Given the description of an element on the screen output the (x, y) to click on. 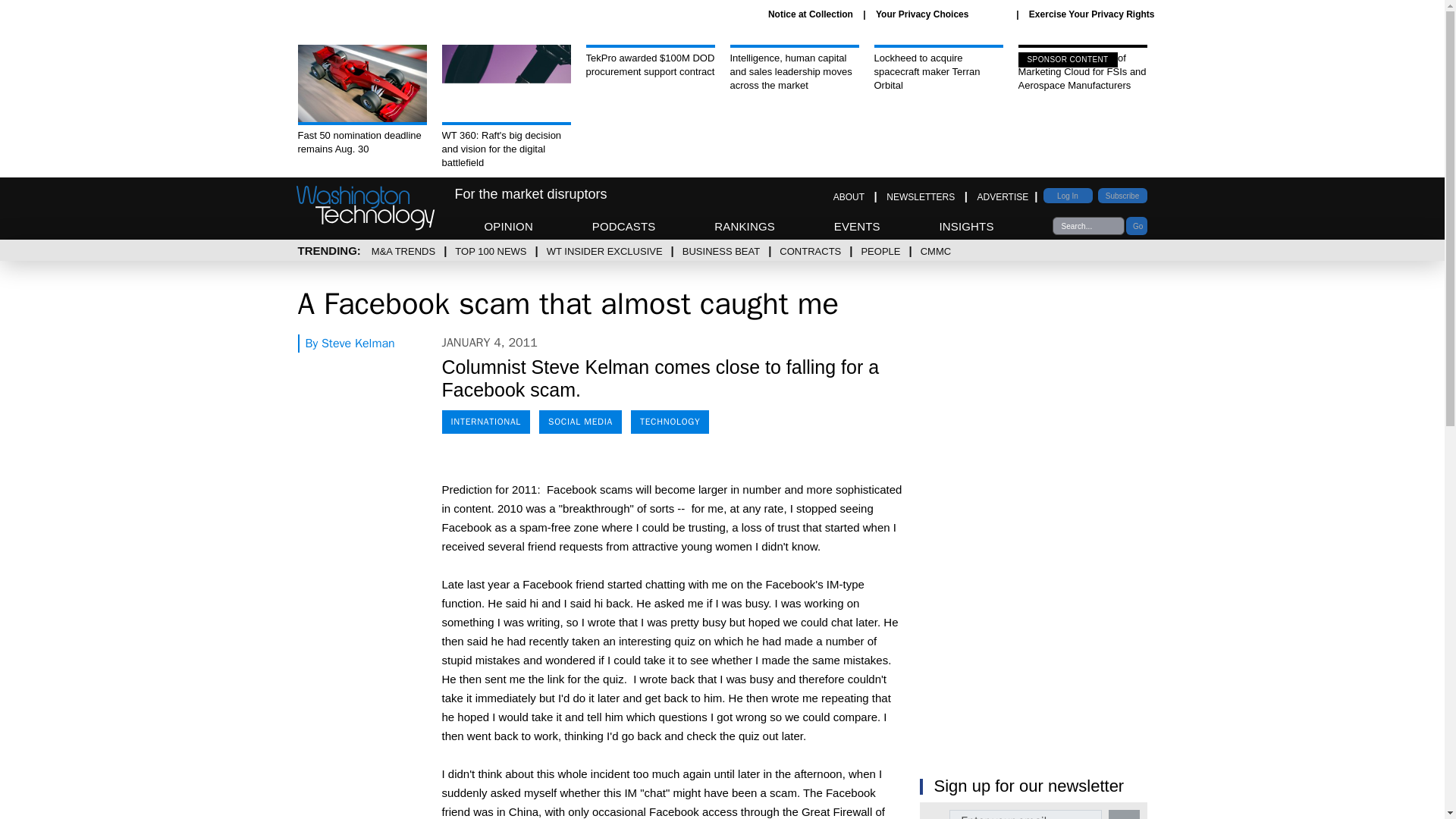
ABOUT (848, 196)
Notice at Collection (810, 14)
Go (1136, 226)
Lockheed to acquire spacecraft maker Terran Orbital (938, 68)
Exercise Your Privacy Rights (1091, 14)
EVENTS (857, 226)
NEWSLETTERS (920, 196)
INSIGHTS (966, 226)
Fast 50 nomination deadline remains Aug. 30 (361, 100)
